Given the description of an element on the screen output the (x, y) to click on. 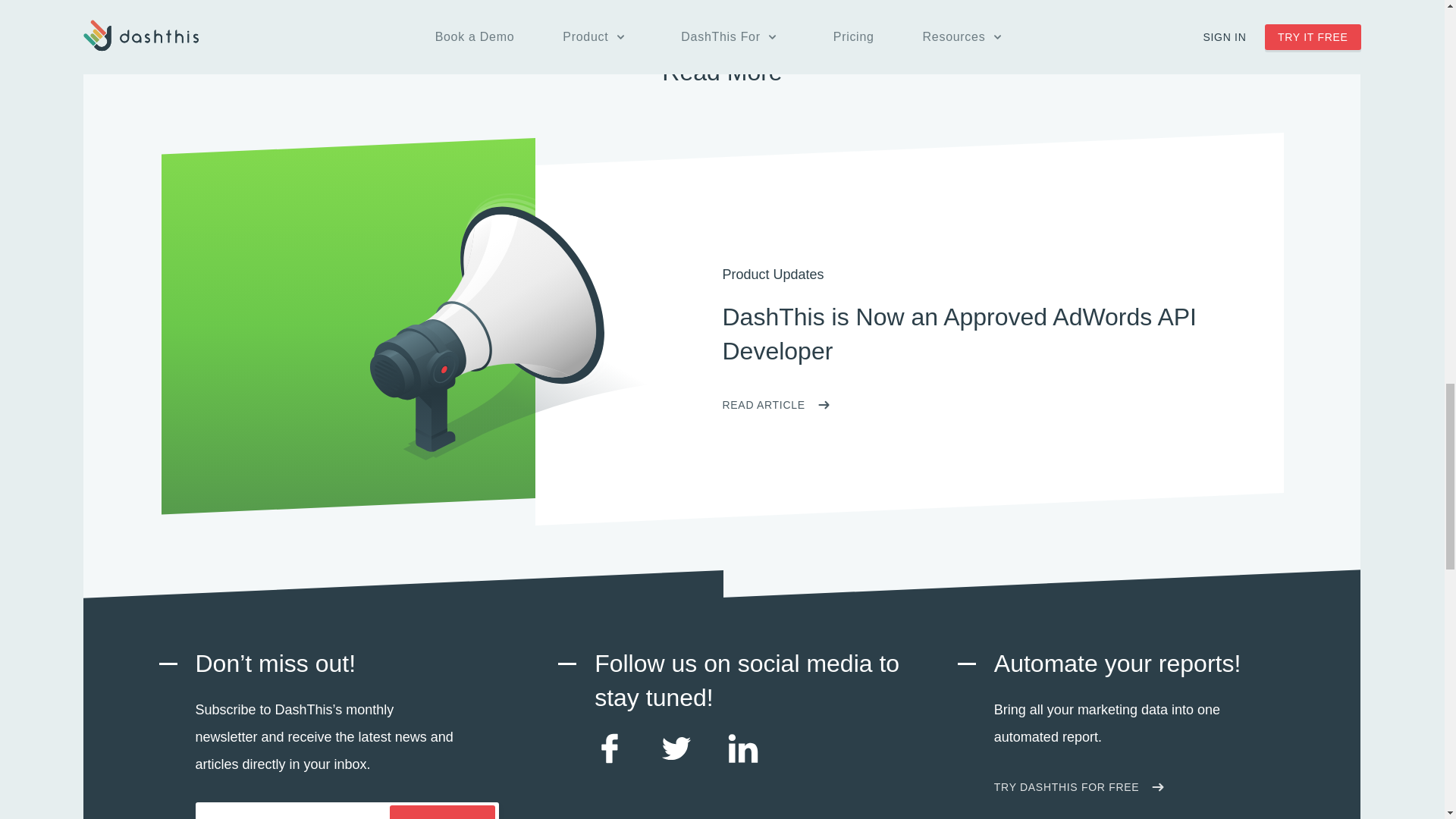
Try DashThis (1078, 787)
Linkedin (743, 758)
DashThis Facebook (609, 758)
DashThis Twitter (676, 758)
